Given the description of an element on the screen output the (x, y) to click on. 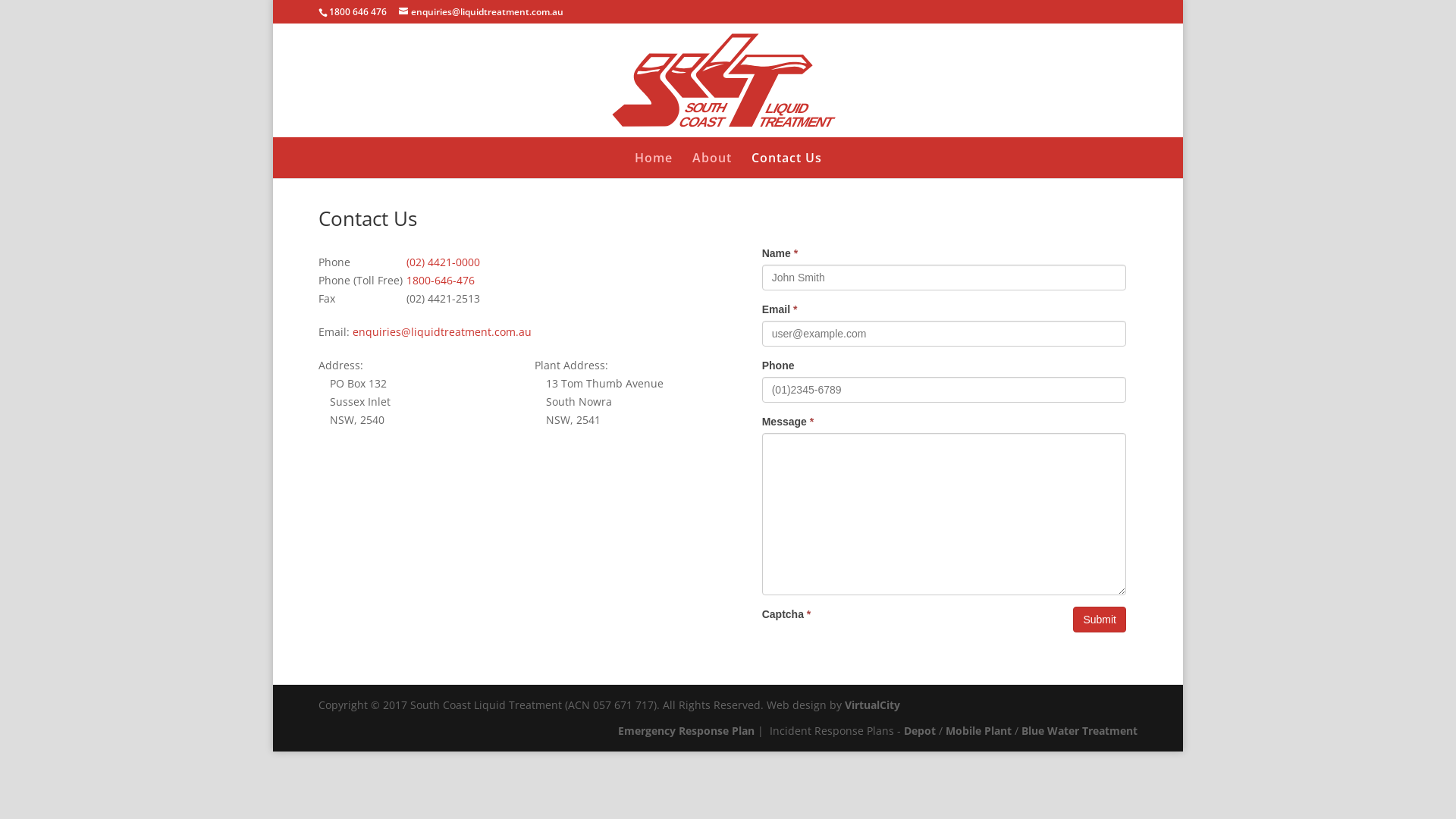
enquiries@liquidtreatment.com.au Element type: text (441, 331)
VirtualCity Element type: text (872, 704)
Depot Element type: text (919, 730)
Mobile Plant Element type: text (978, 730)
1800-646-476 Element type: text (440, 280)
About Element type: text (711, 157)
Home Element type: text (652, 157)
Submit Element type: text (1099, 619)
enquiries@liquidtreatment.com.au Element type: text (480, 11)
Contact Us Element type: text (785, 157)
Blue Water Treatment Element type: text (1079, 730)
(02) 4421-0000 Element type: text (443, 261)
Emergency Response Plan Element type: text (686, 730)
